Given the description of an element on the screen output the (x, y) to click on. 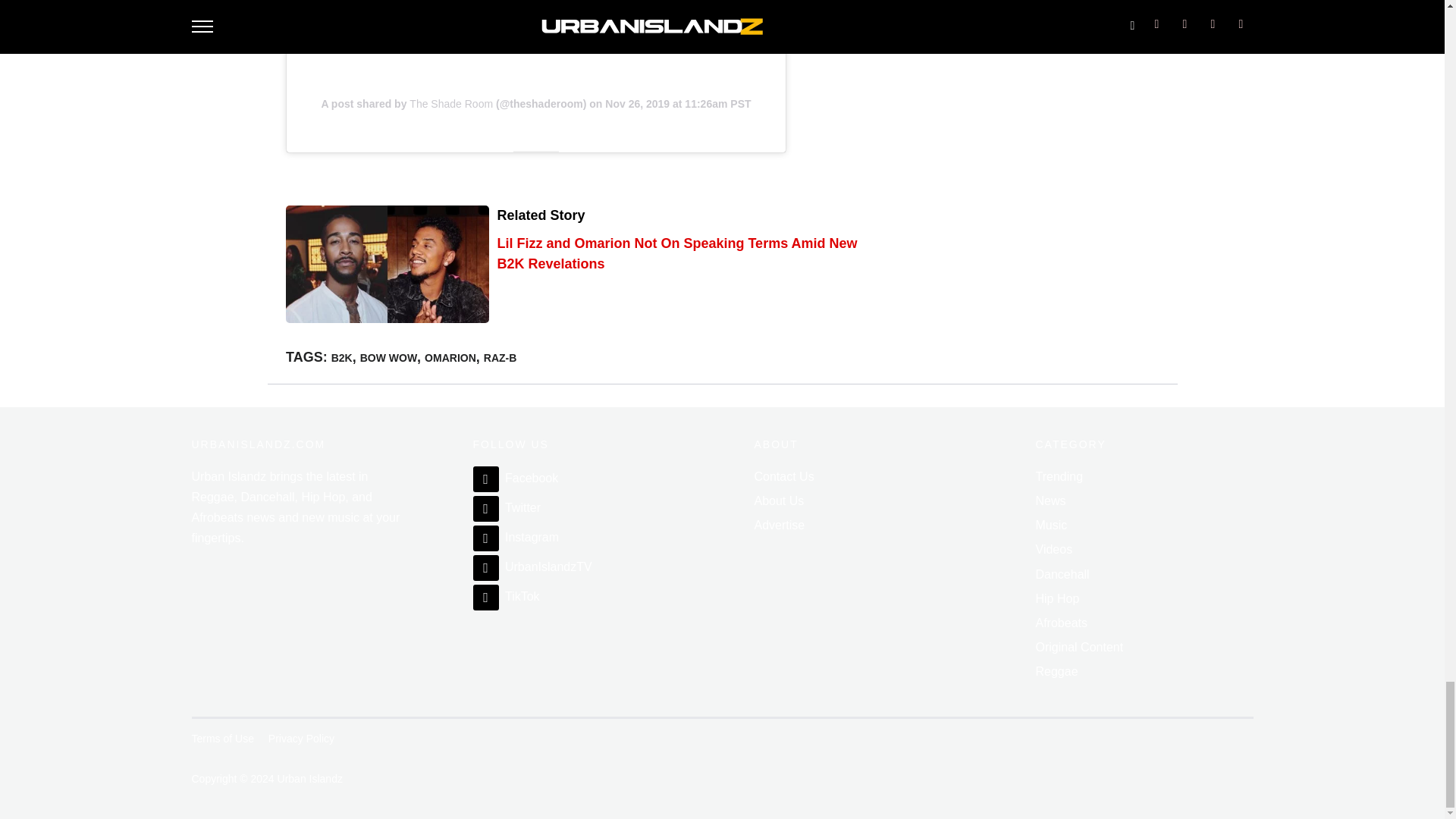
Facebook (516, 477)
